Given the description of an element on the screen output the (x, y) to click on. 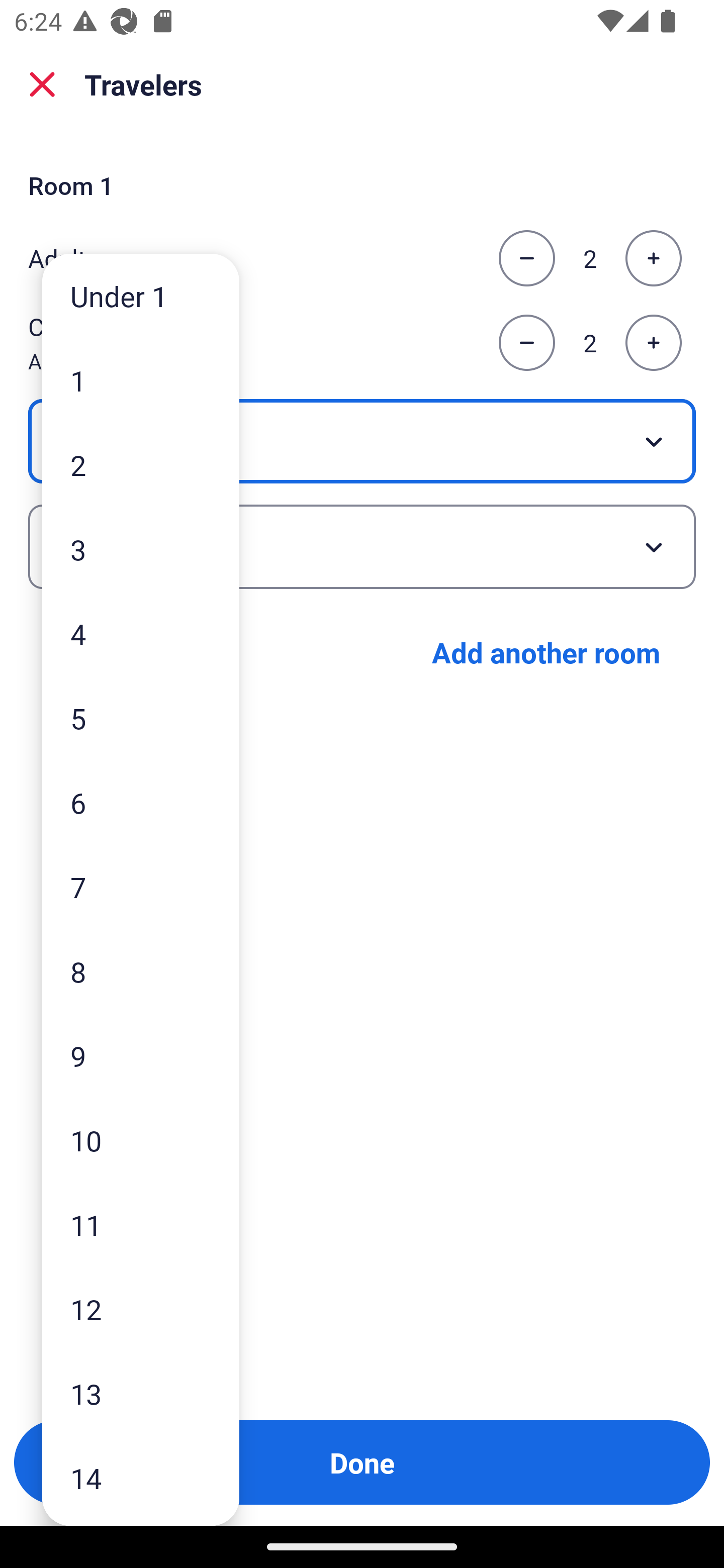
Under 1 (140, 296)
1 (140, 380)
2 (140, 464)
3 (140, 548)
4 (140, 633)
5 (140, 717)
6 (140, 802)
7 (140, 887)
8 (140, 970)
9 (140, 1054)
10 (140, 1139)
11 (140, 1224)
12 (140, 1308)
13 (140, 1393)
14 (140, 1478)
